Given the description of an element on the screen output the (x, y) to click on. 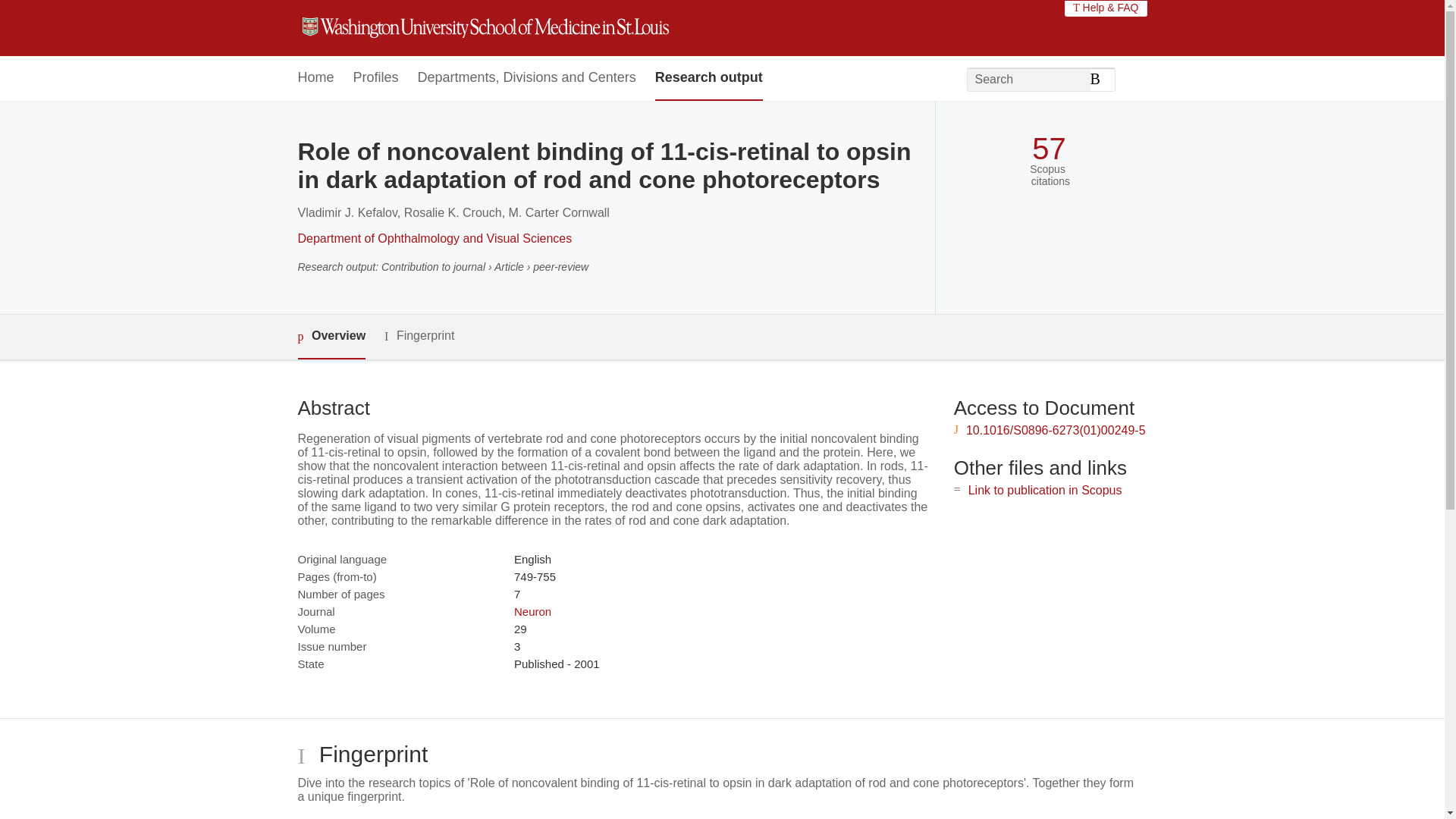
Department of Ophthalmology and Visual Sciences (434, 237)
Link to publication in Scopus (1045, 490)
Research output (708, 78)
Profiles (375, 78)
Fingerprint (419, 335)
57 (1048, 148)
Departments, Divisions and Centers (526, 78)
Neuron (532, 611)
Overview (331, 336)
